Given the description of an element on the screen output the (x, y) to click on. 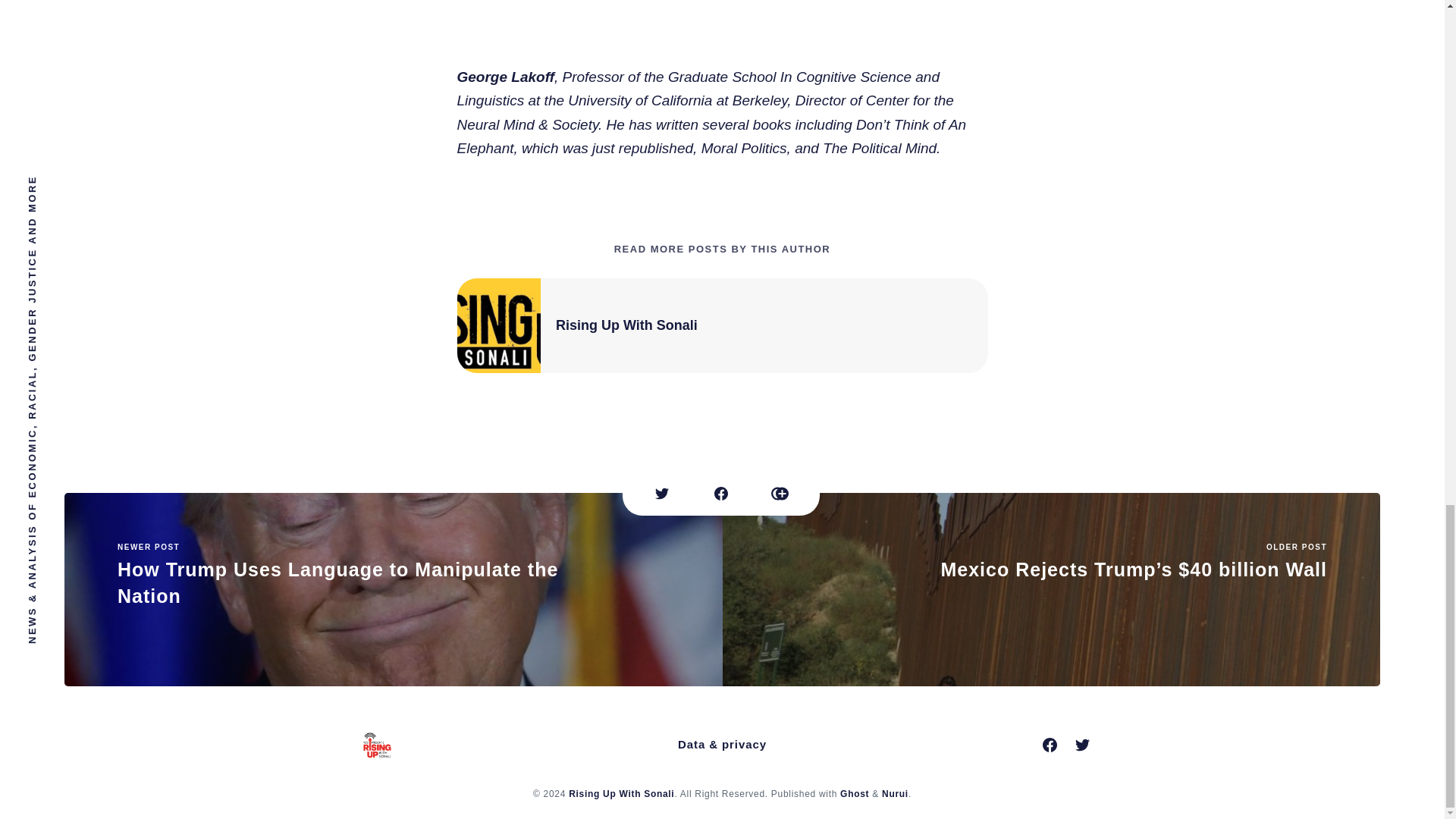
Nurui (895, 793)
Rising Up With Sonali (621, 793)
Rising Up With Sonali (625, 324)
Ghost (393, 589)
